Given the description of an element on the screen output the (x, y) to click on. 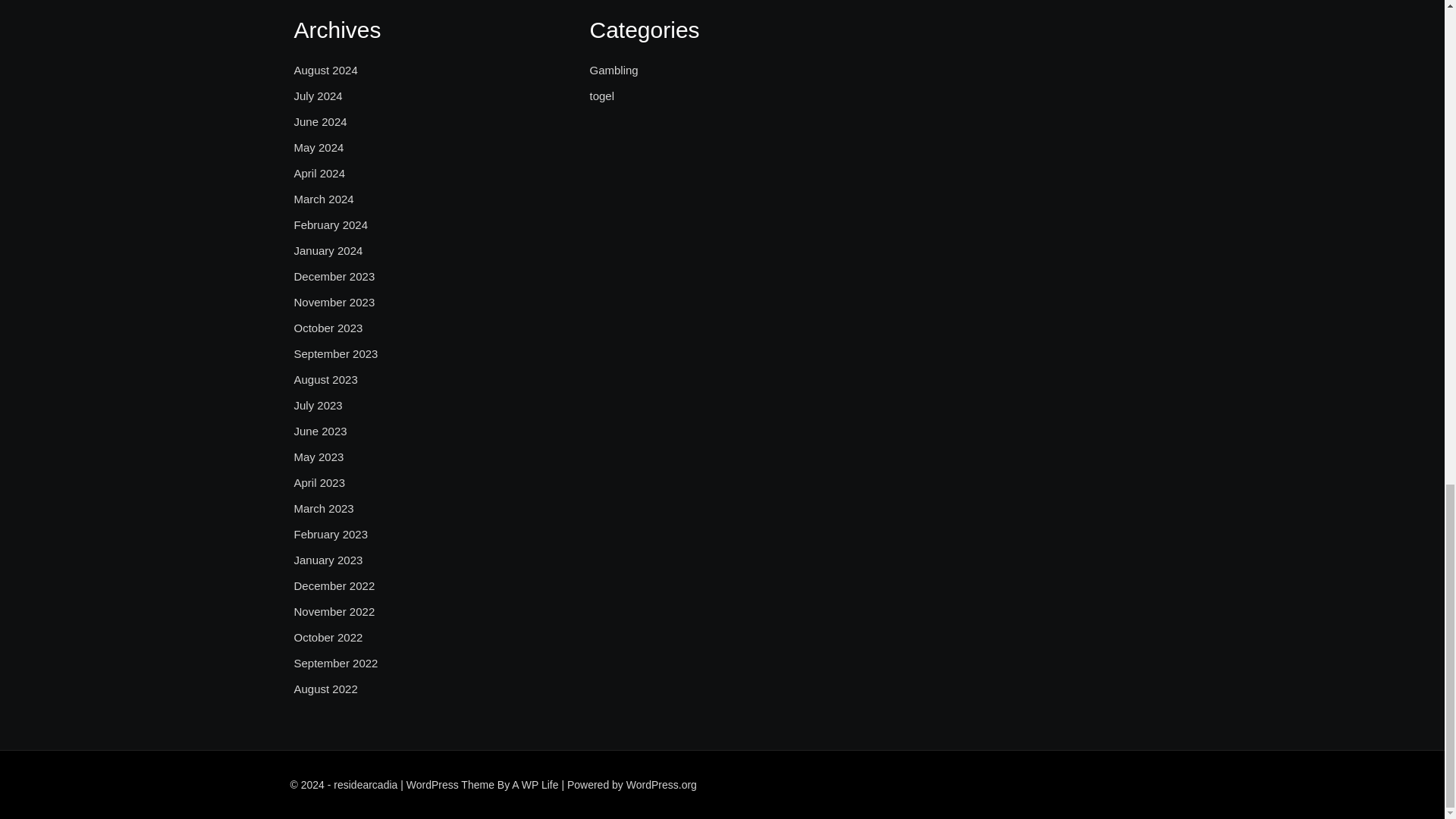
July 2024 (318, 95)
May 2024 (318, 147)
February 2024 (331, 225)
July 2023 (318, 405)
October 2022 (328, 637)
September 2023 (336, 353)
September 2022 (336, 663)
August 2023 (326, 380)
June 2023 (320, 431)
November 2022 (334, 611)
March 2023 (323, 508)
April 2023 (320, 483)
April 2024 (320, 173)
June 2024 (320, 122)
December 2023 (334, 276)
